Given the description of an element on the screen output the (x, y) to click on. 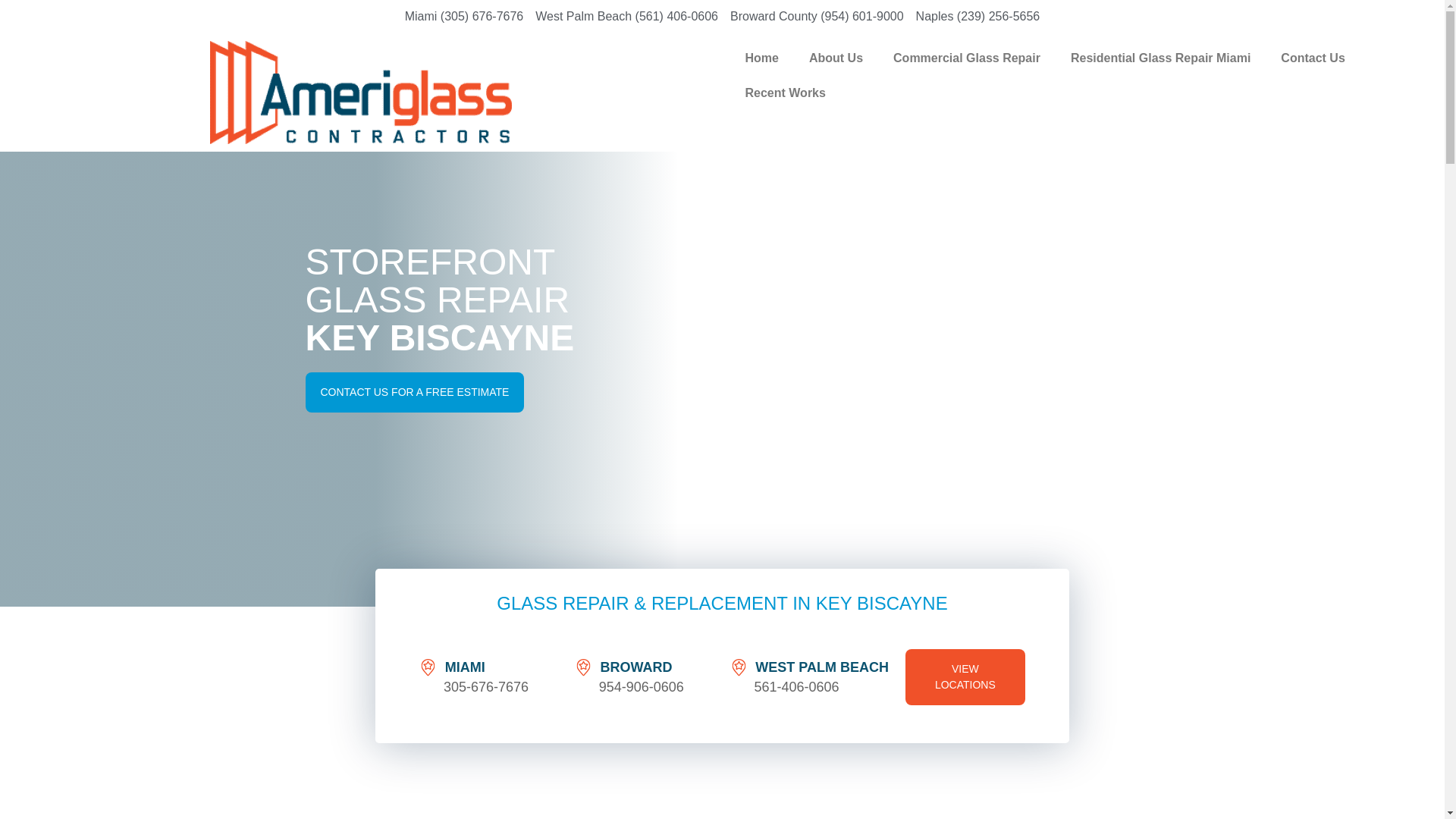
About Us (835, 58)
Contact Us (1312, 58)
Recent Works (784, 93)
Home (761, 58)
Commercial Glass Repair (966, 58)
Residential Glass Repair Miami (1160, 58)
